Given the description of an element on the screen output the (x, y) to click on. 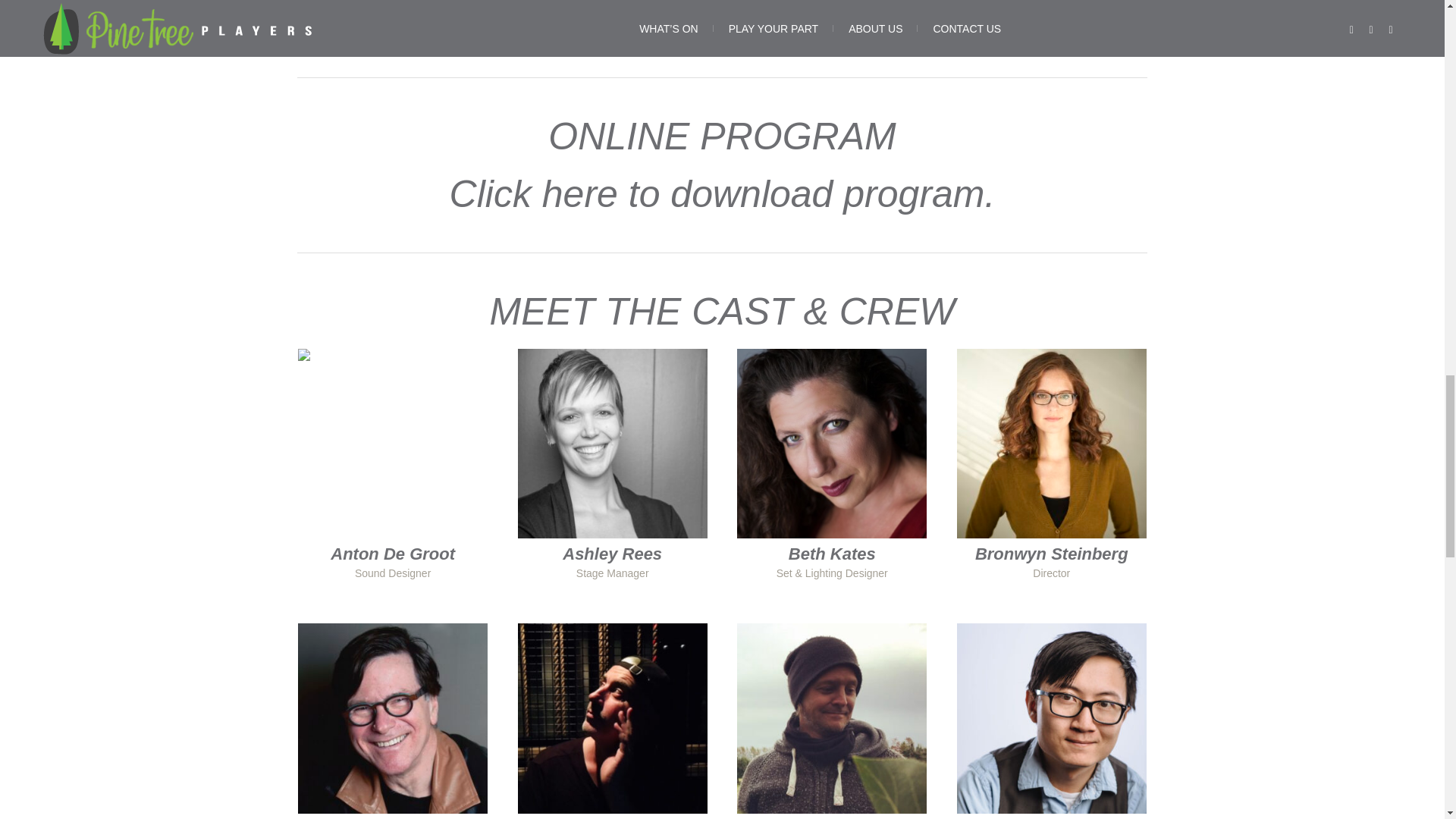
Bronwyn Steinberg (1051, 553)
Ashley Rees (612, 443)
Beth Kates (831, 443)
Duval Lang (392, 718)
Ashley Rees (612, 553)
Bronwyn Steinberg (1051, 443)
Click here (533, 193)
Beth Kates (832, 553)
Anton De Groot (392, 443)
Anton De Groot (392, 553)
